Given the description of an element on the screen output the (x, y) to click on. 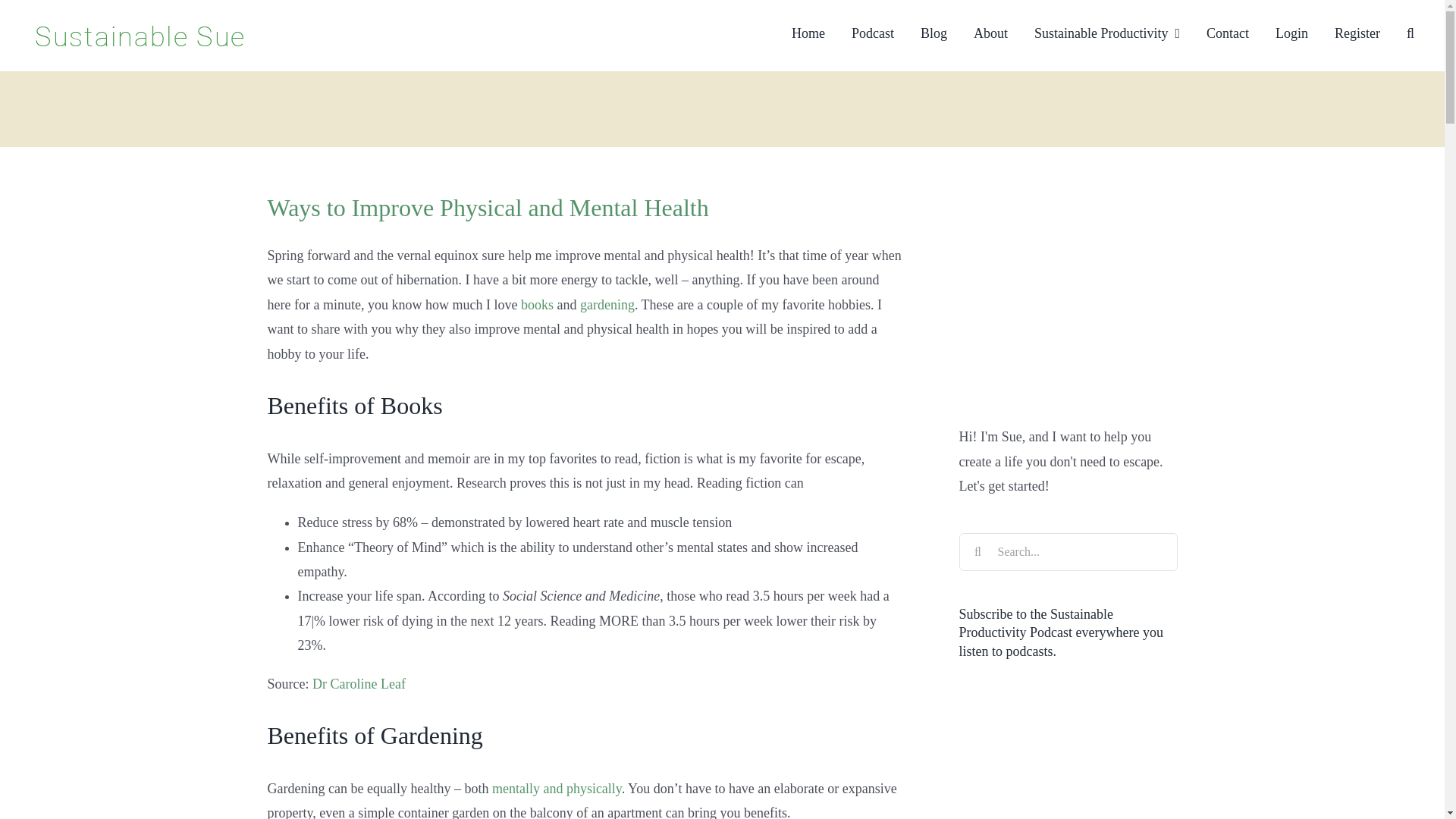
Ways to Improve Physical and Mental Health (486, 207)
gardening (606, 304)
Sustainable Productivity (1106, 31)
mentally and physically (556, 788)
Dr Caroline Leaf (359, 683)
books (537, 304)
